Given the description of an element on the screen output the (x, y) to click on. 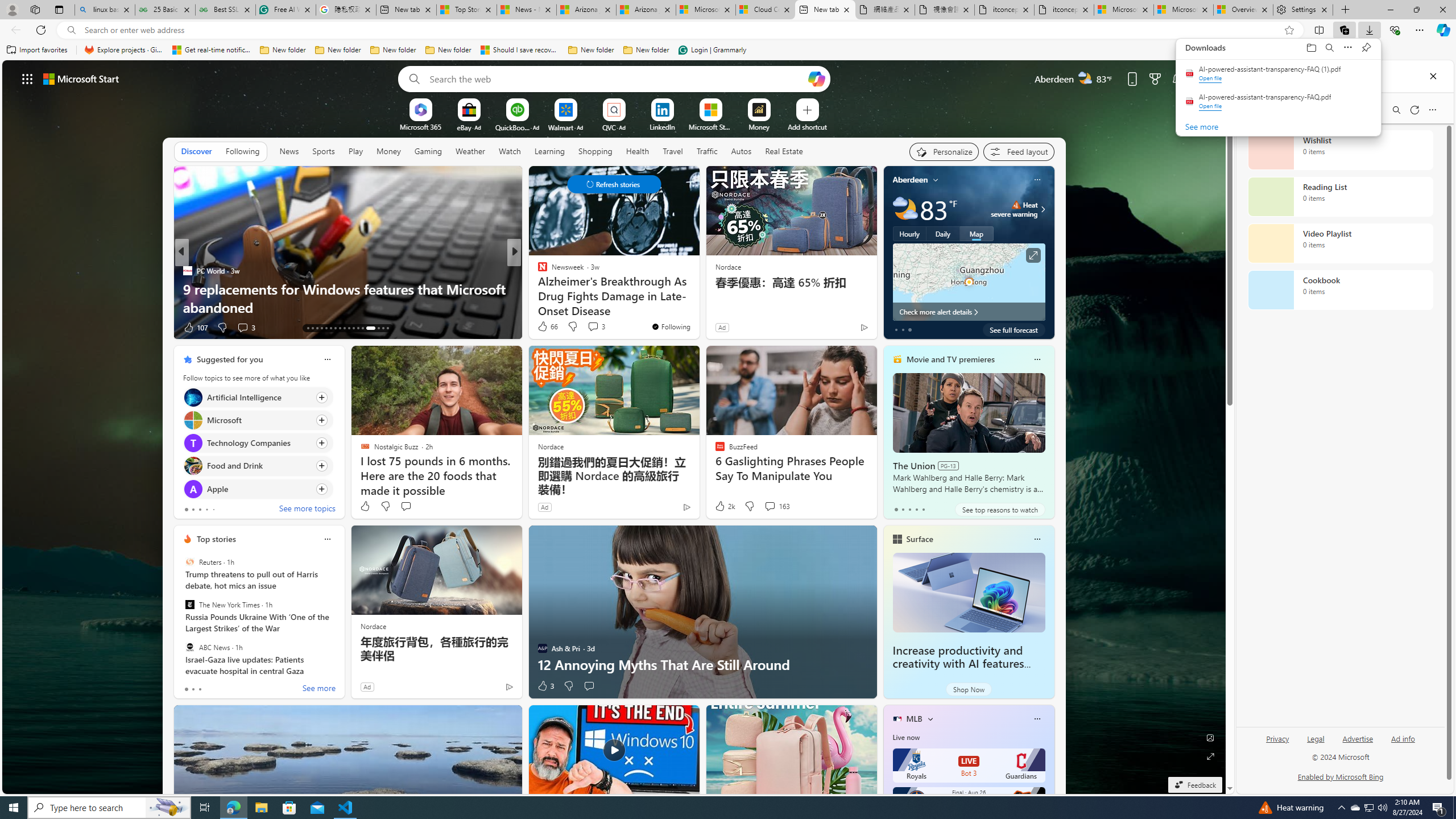
Favorites bar (728, 49)
View comments 16 Comment (597, 327)
Check more alert details (968, 311)
Class: weather-arrow-glyph (1043, 208)
Feed settings (1018, 151)
AutomationID: tab-22 (348, 328)
AutomationID: tab-25 (362, 328)
Top stories (215, 538)
Downloads (1369, 29)
